Given the description of an element on the screen output the (x, y) to click on. 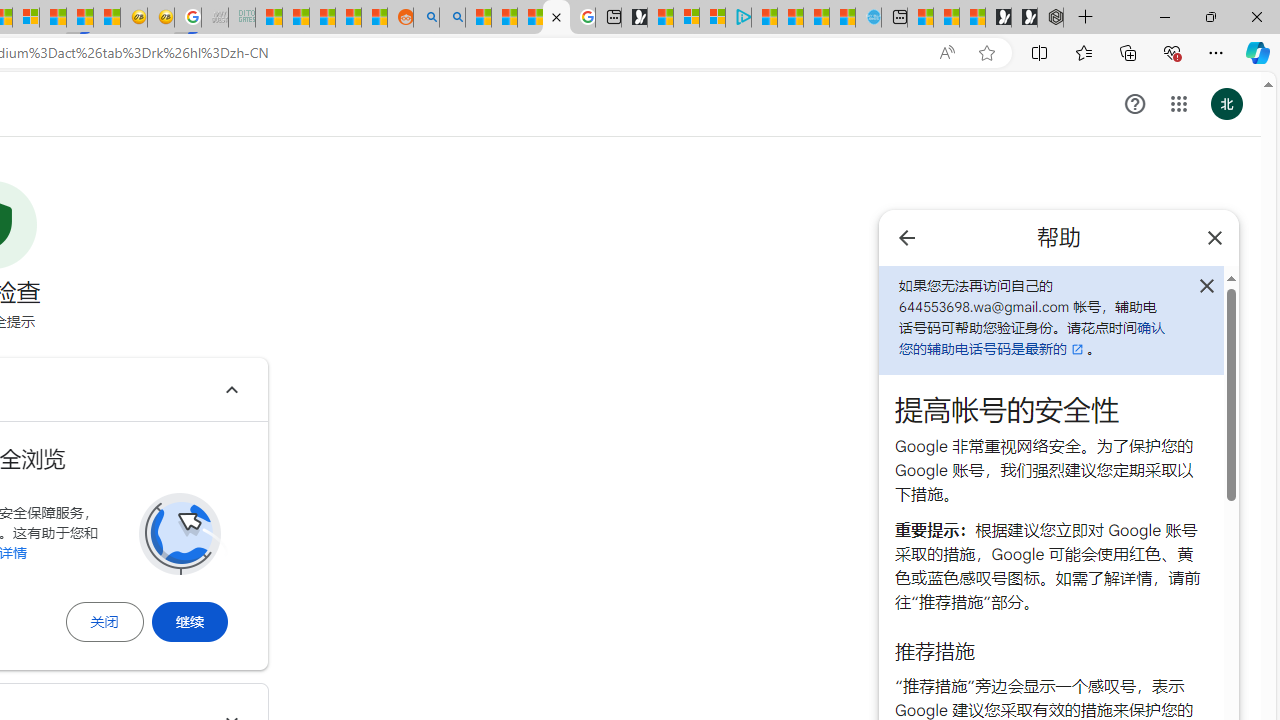
Student Loan Update: Forgiveness Program Ends This Month (347, 17)
